Given the description of an element on the screen output the (x, y) to click on. 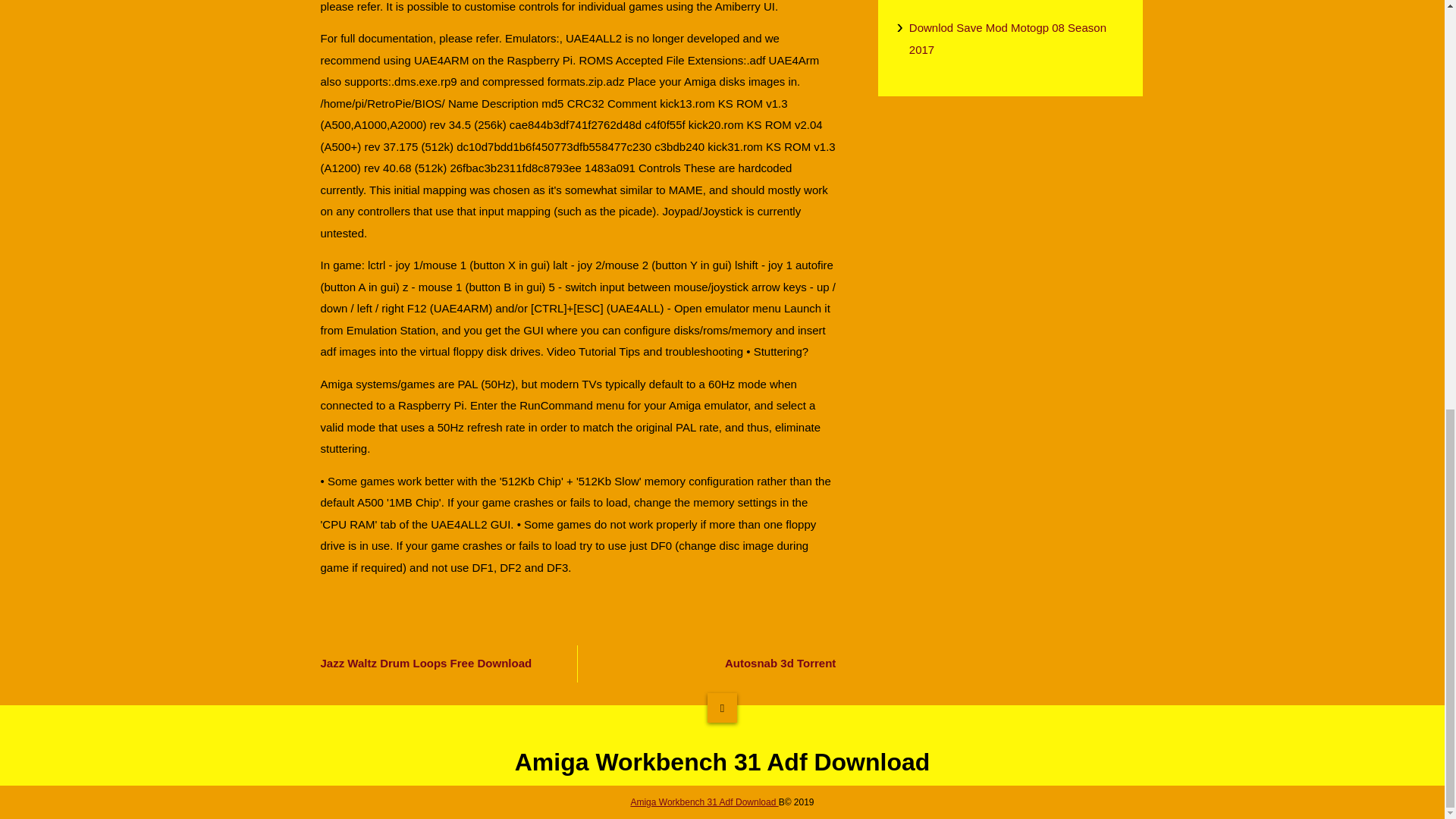
Autosnab 3d Torrent (716, 663)
Bogolyubov Uchebnik Po Chercheniyu (1016, 1)
Downlod Save Mod Motogp 08 Season 2017 (1016, 38)
Amiga Workbench 31 Adf Download (703, 801)
Jazz Waltz Drum Loops Free Download (439, 663)
